Given the description of an element on the screen output the (x, y) to click on. 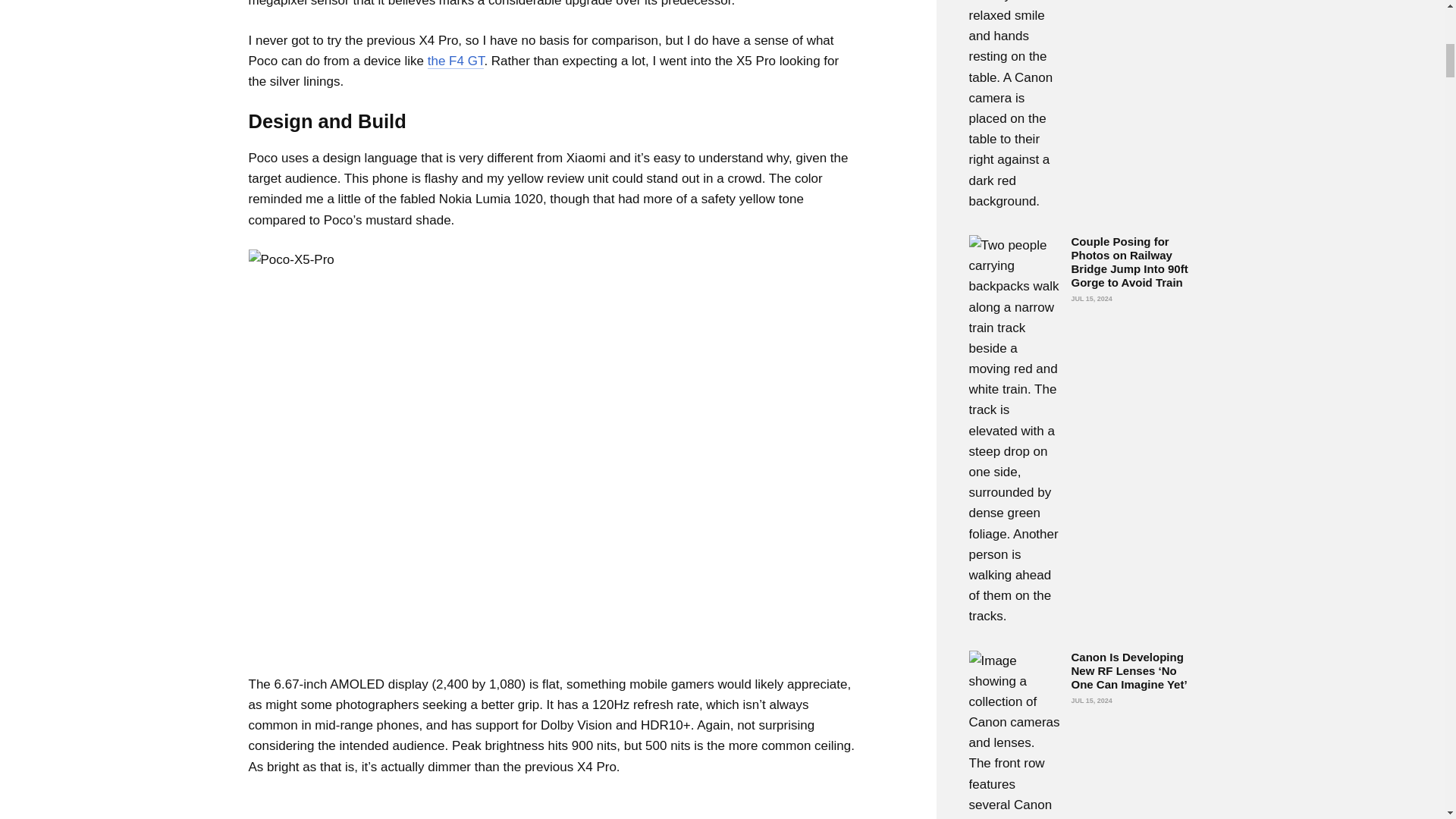
the F4 GT (456, 61)
